Given the description of an element on the screen output the (x, y) to click on. 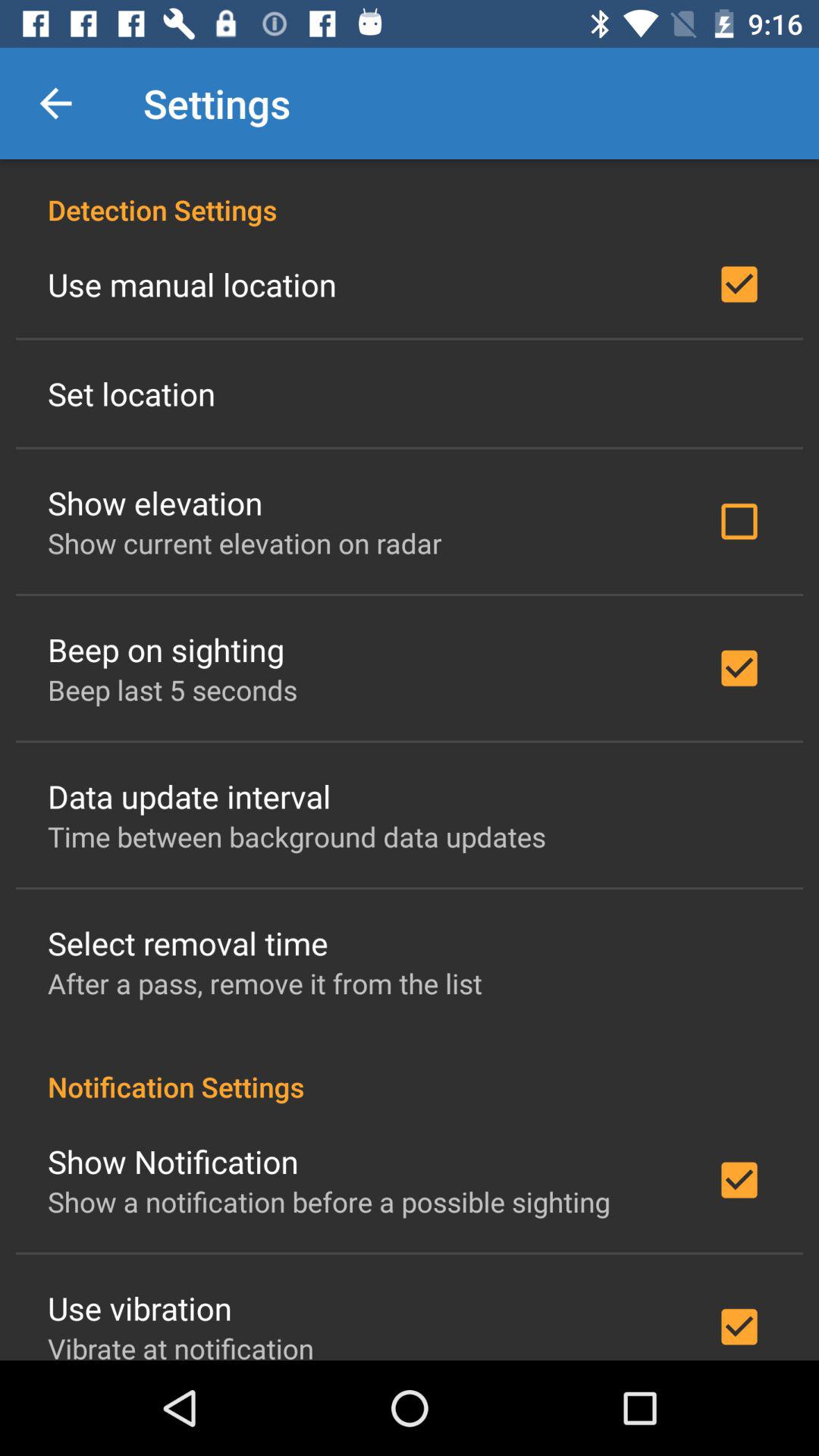
swipe until beep on sighting (165, 649)
